Given the description of an element on the screen output the (x, y) to click on. 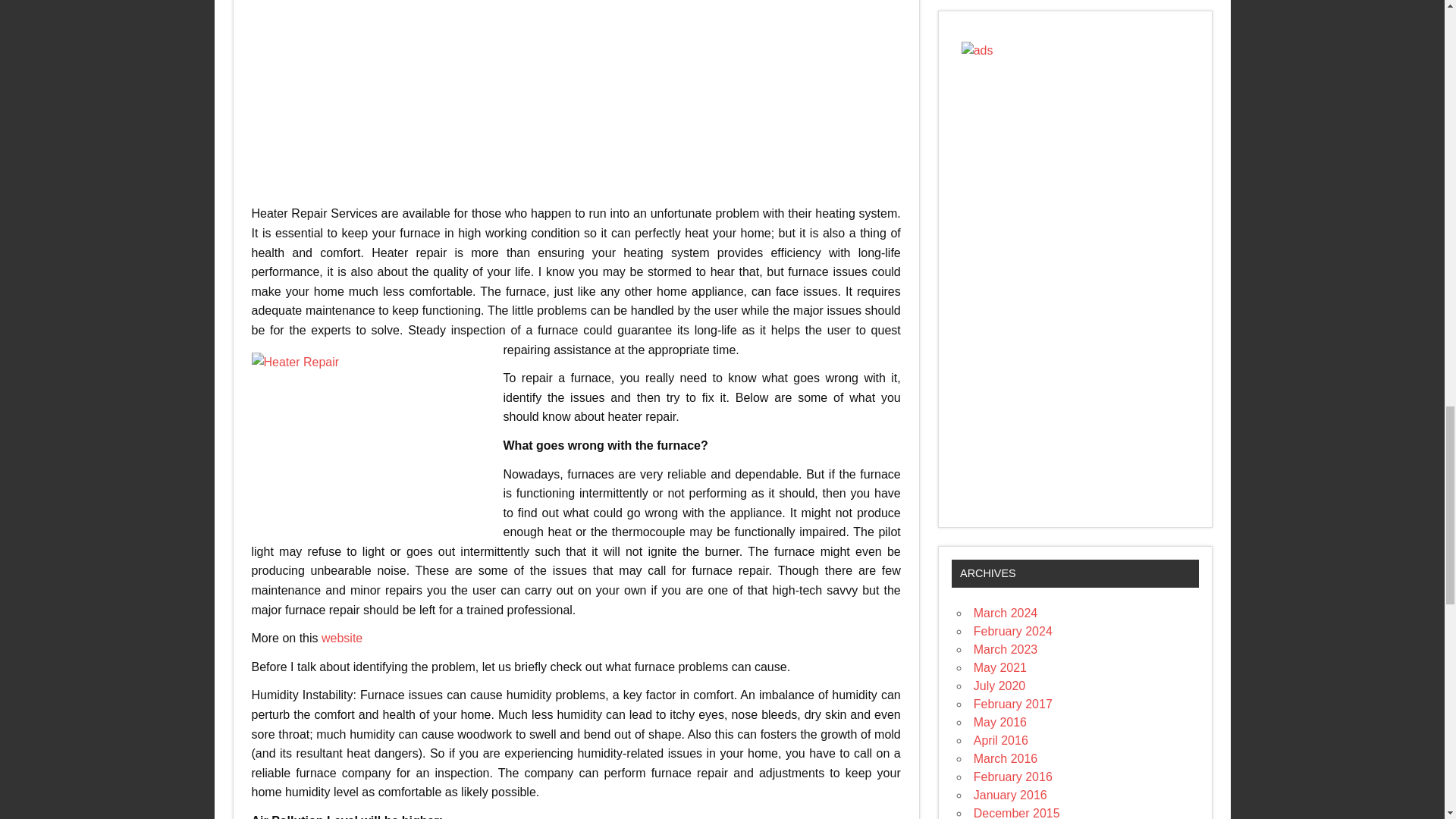
website (341, 637)
